Given the description of an element on the screen output the (x, y) to click on. 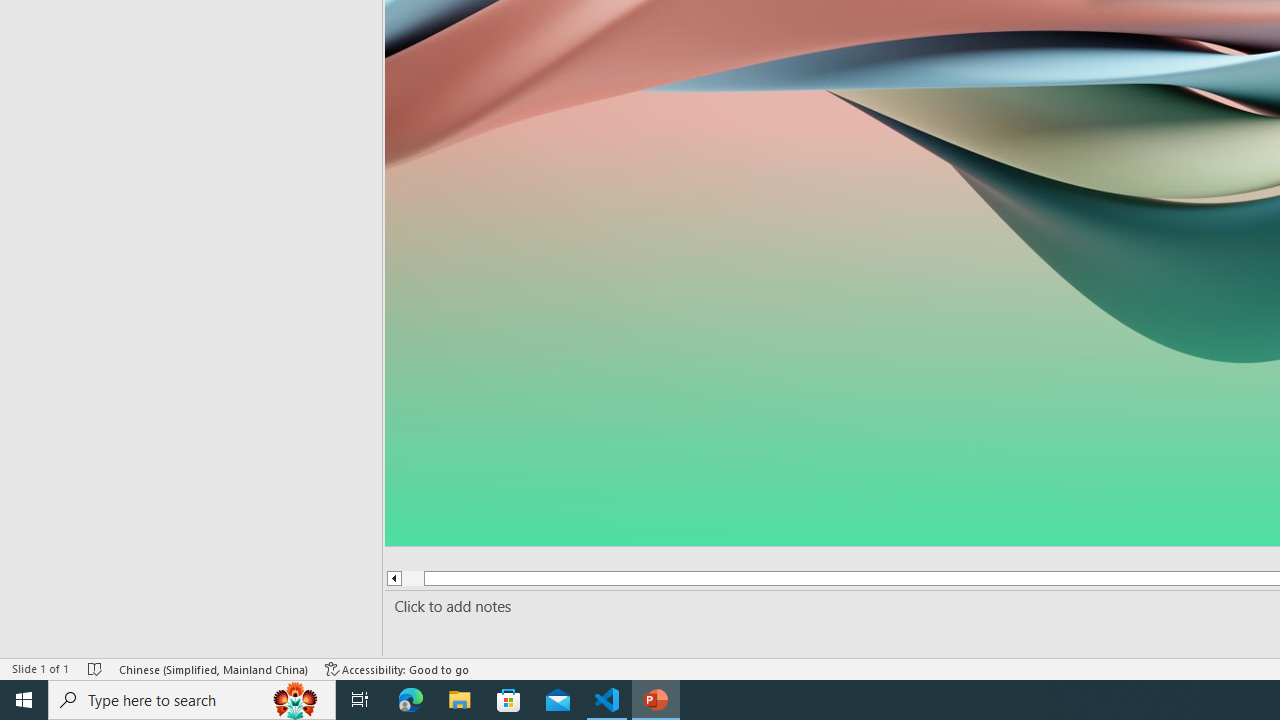
Accessibility Checker Accessibility: Good to go (397, 668)
